Given the description of an element on the screen output the (x, y) to click on. 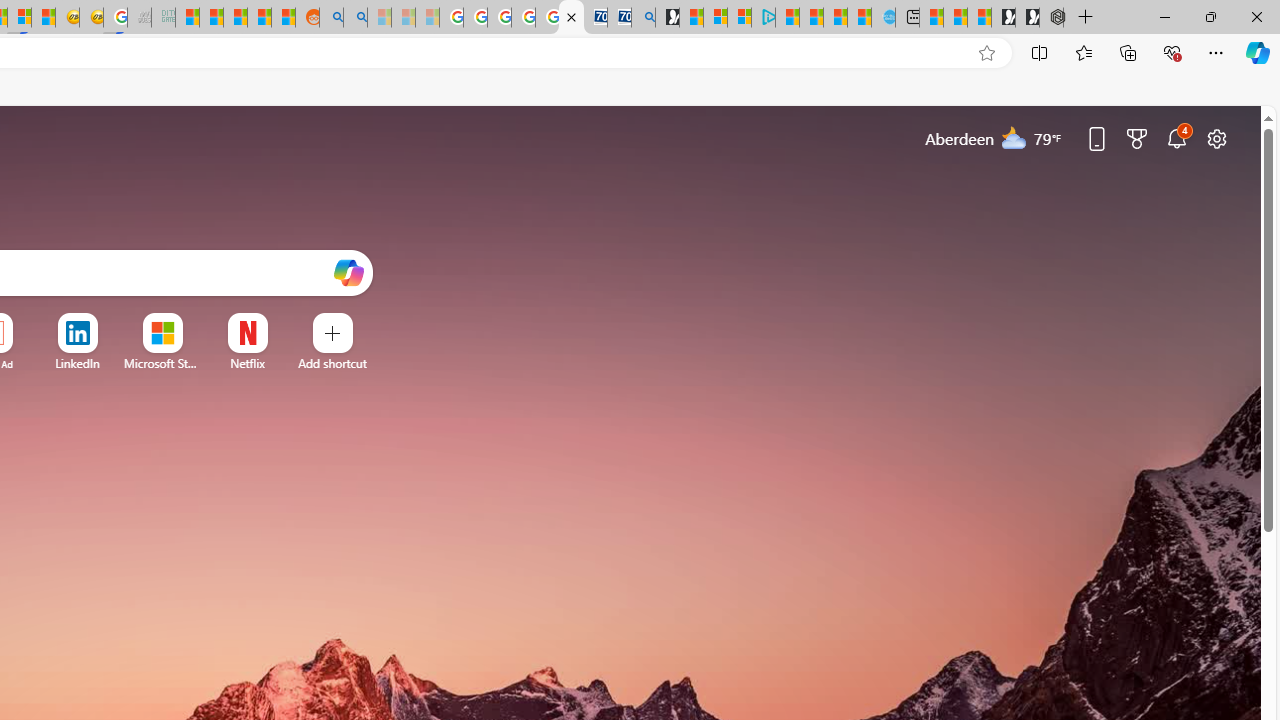
Navy Quest (139, 17)
Mostly cloudy (1014, 137)
Microsoft Start - Sleeping (378, 17)
Cheap Car Rentals - Save70.com (619, 17)
Utah sues federal government - Search (355, 17)
